Given the description of an element on the screen output the (x, y) to click on. 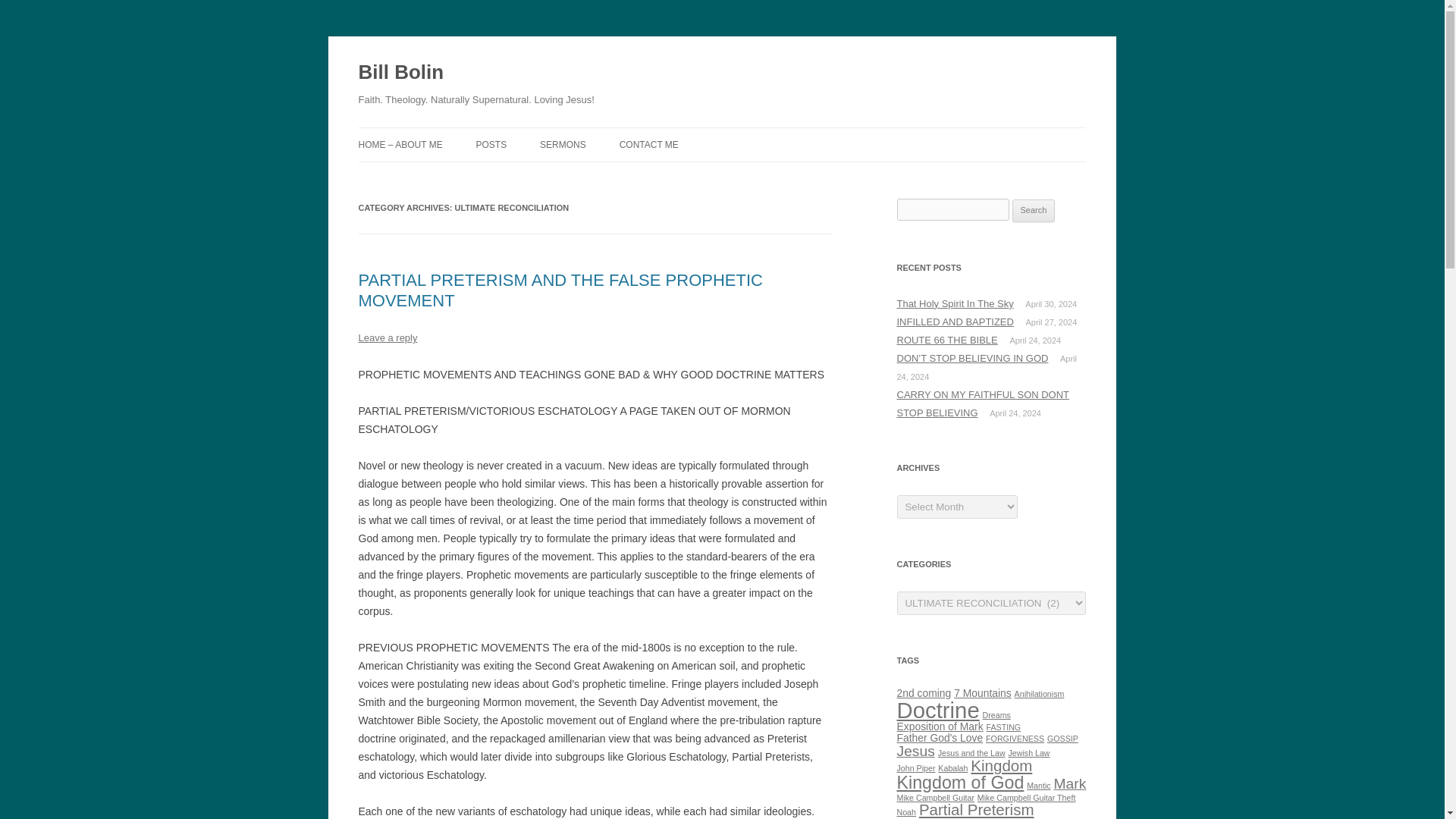
VIDEO SERMONS (615, 176)
That Holy Spirit In The Sky (954, 303)
FORGIVENESS (1014, 737)
2nd coming (923, 693)
Search (1033, 210)
Anihilationism (1039, 693)
POSTS (491, 144)
Bill Bolin (401, 72)
FASTING (1004, 727)
